Given the description of an element on the screen output the (x, y) to click on. 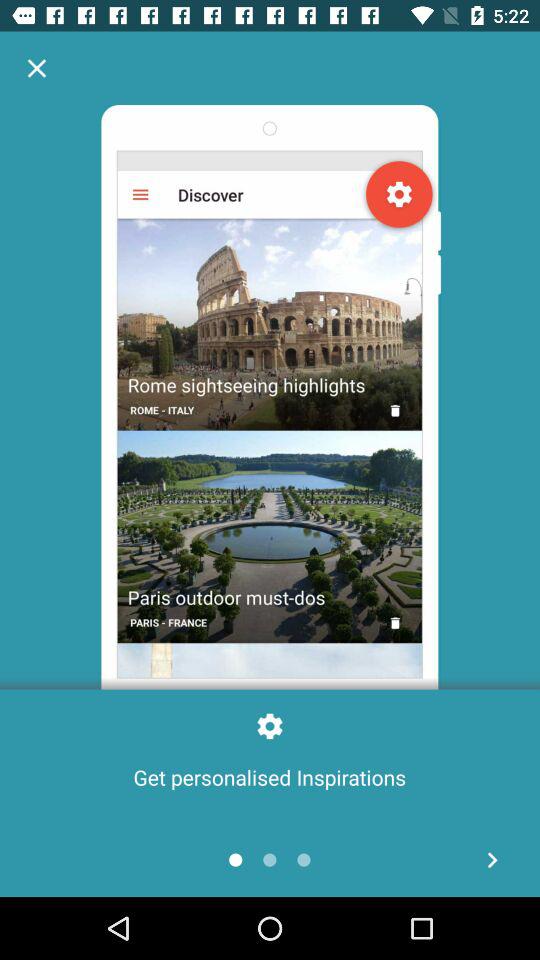
close (36, 68)
